Given the description of an element on the screen output the (x, y) to click on. 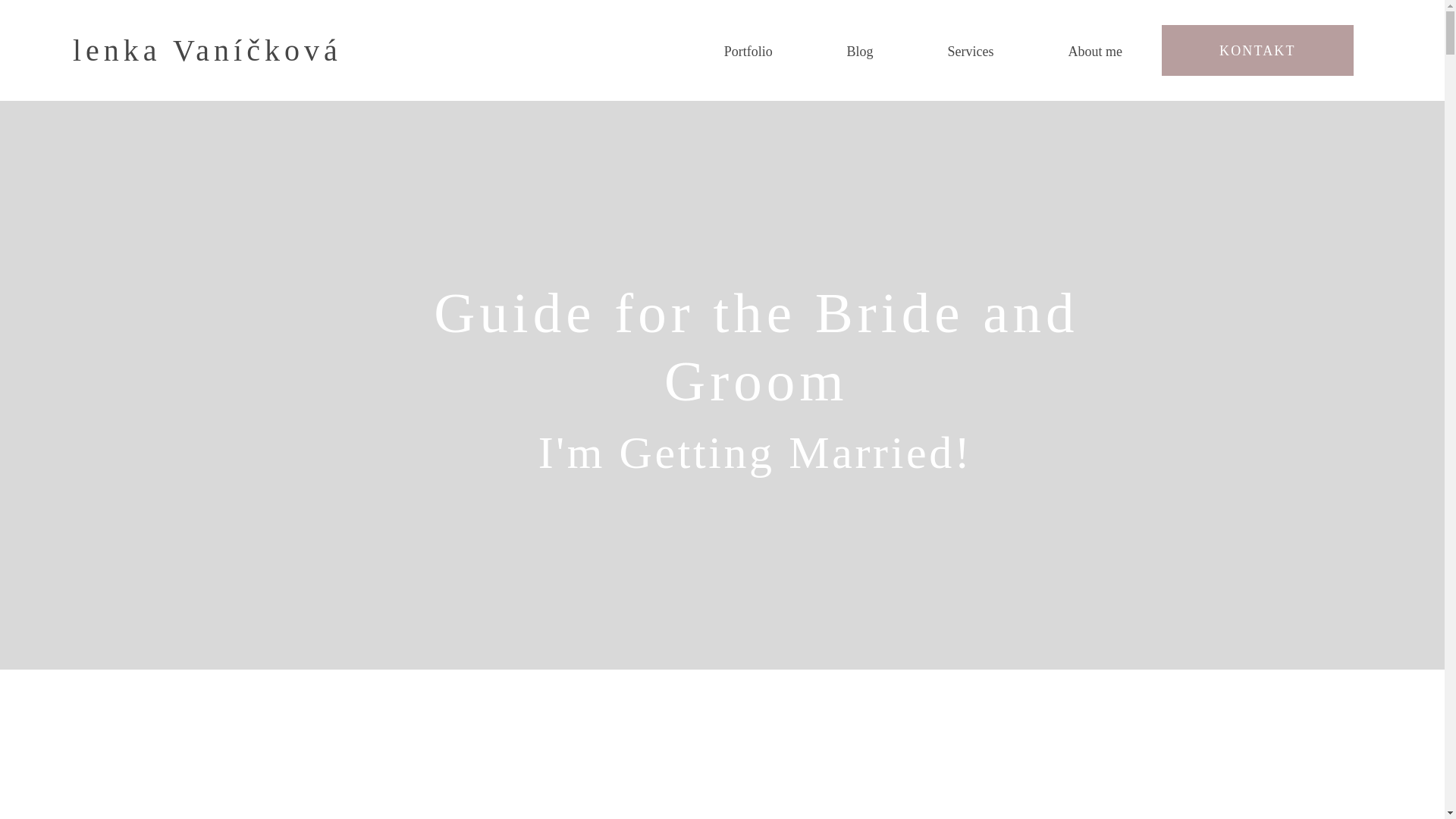
KONTAKT (1257, 50)
Blog (860, 52)
Portfolio (748, 52)
Services (970, 52)
About me (1094, 52)
